Given the description of an element on the screen output the (x, y) to click on. 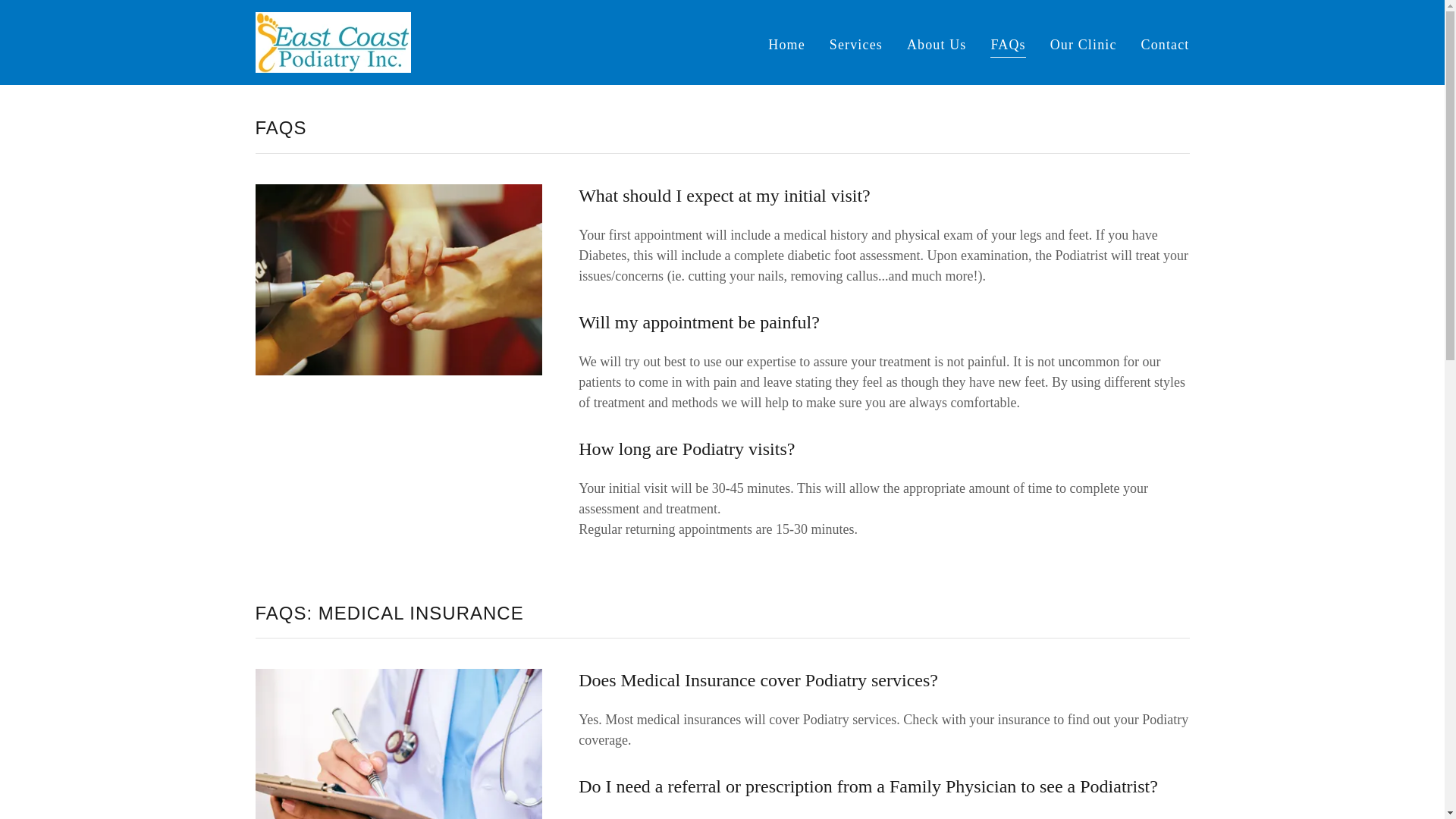
Our Clinic (1083, 43)
FAQs (1007, 45)
East Coast Podiatry Inc. (332, 40)
Contact (1165, 43)
Home (785, 43)
About Us (936, 43)
Services (855, 43)
